Given the description of an element on the screen output the (x, y) to click on. 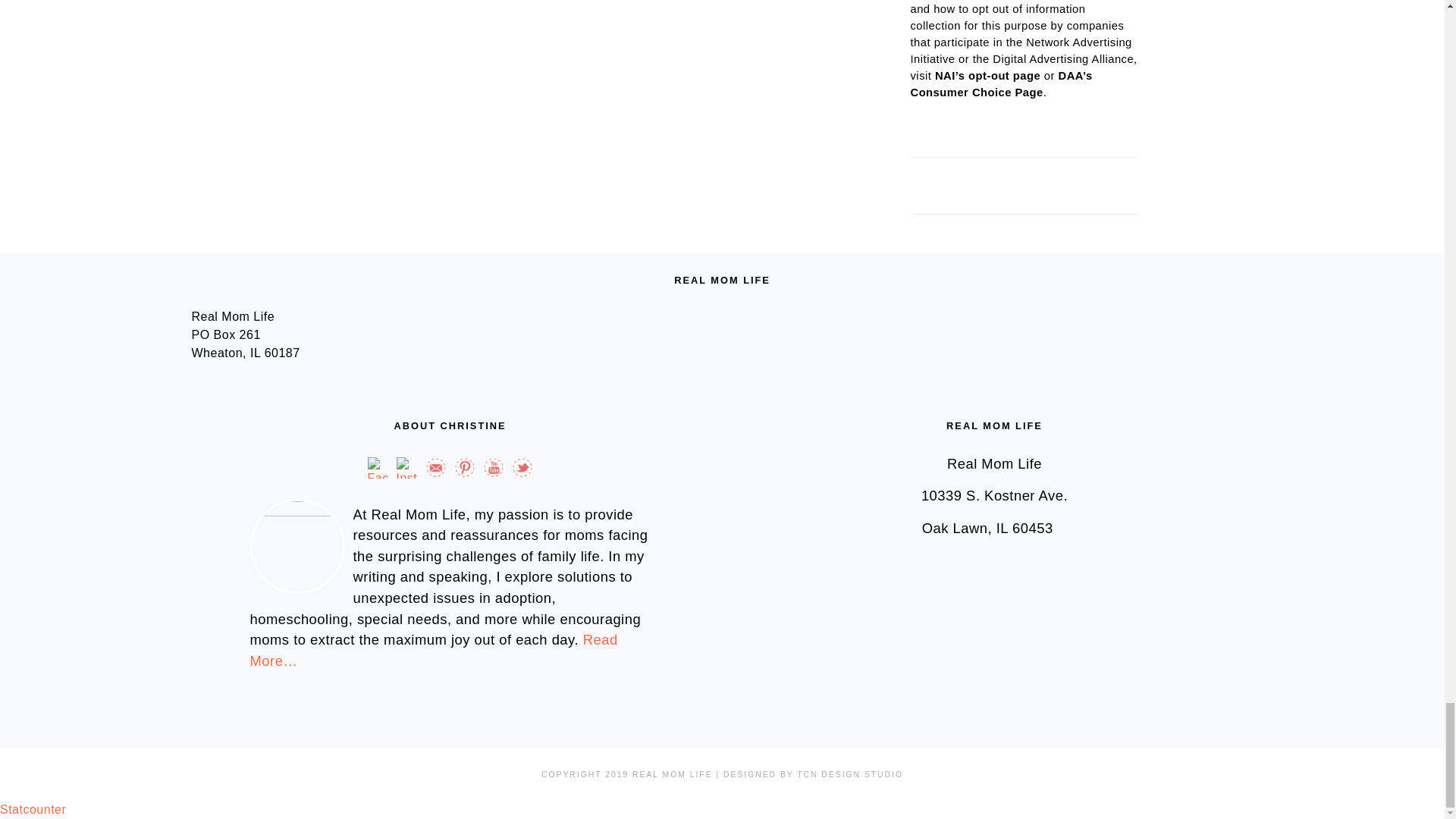
Real Mom Life (812, 774)
